Given the description of an element on the screen output the (x, y) to click on. 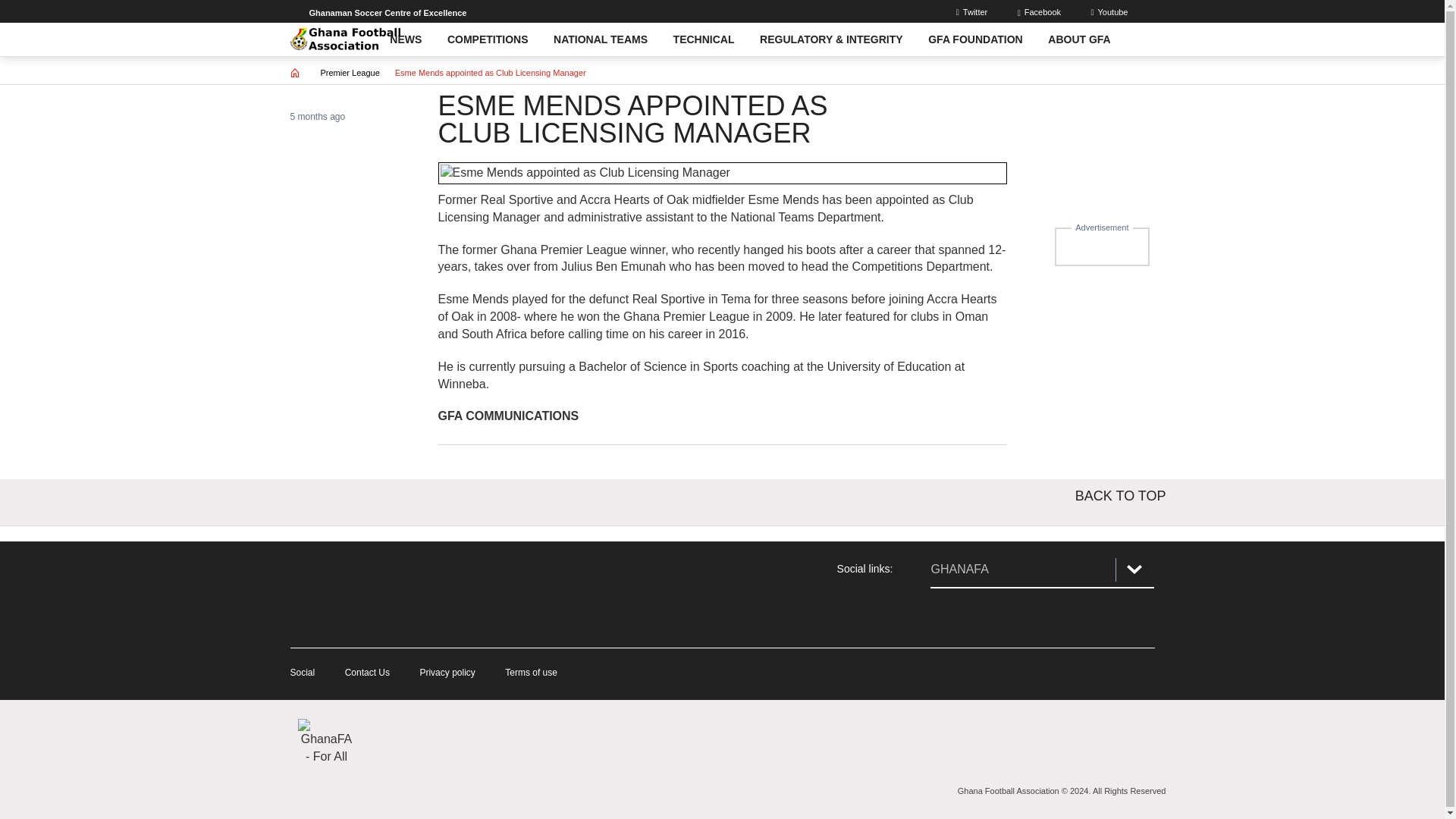
View the GhanaFA YouTube channel (1133, 617)
sign in (973, 11)
NEWS (406, 39)
COMPETITIONS (487, 39)
sign in (1110, 11)
View the GhanaFA Facebook channel (950, 617)
sign in (1040, 11)
View the GhanaFA Twitter channel (1042, 617)
